Given the description of an element on the screen output the (x, y) to click on. 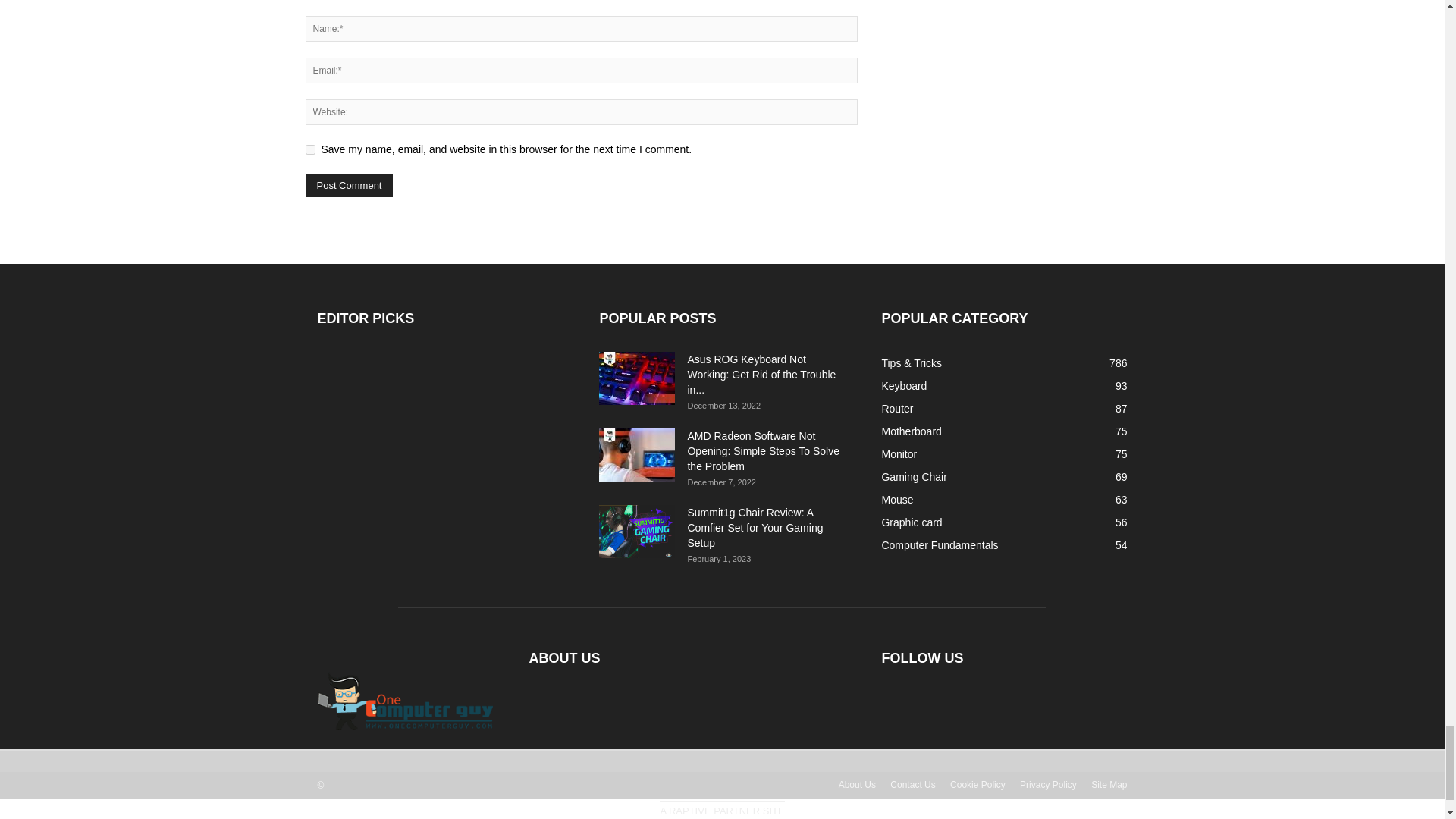
Post Comment (348, 185)
yes (309, 149)
